Given the description of an element on the screen output the (x, y) to click on. 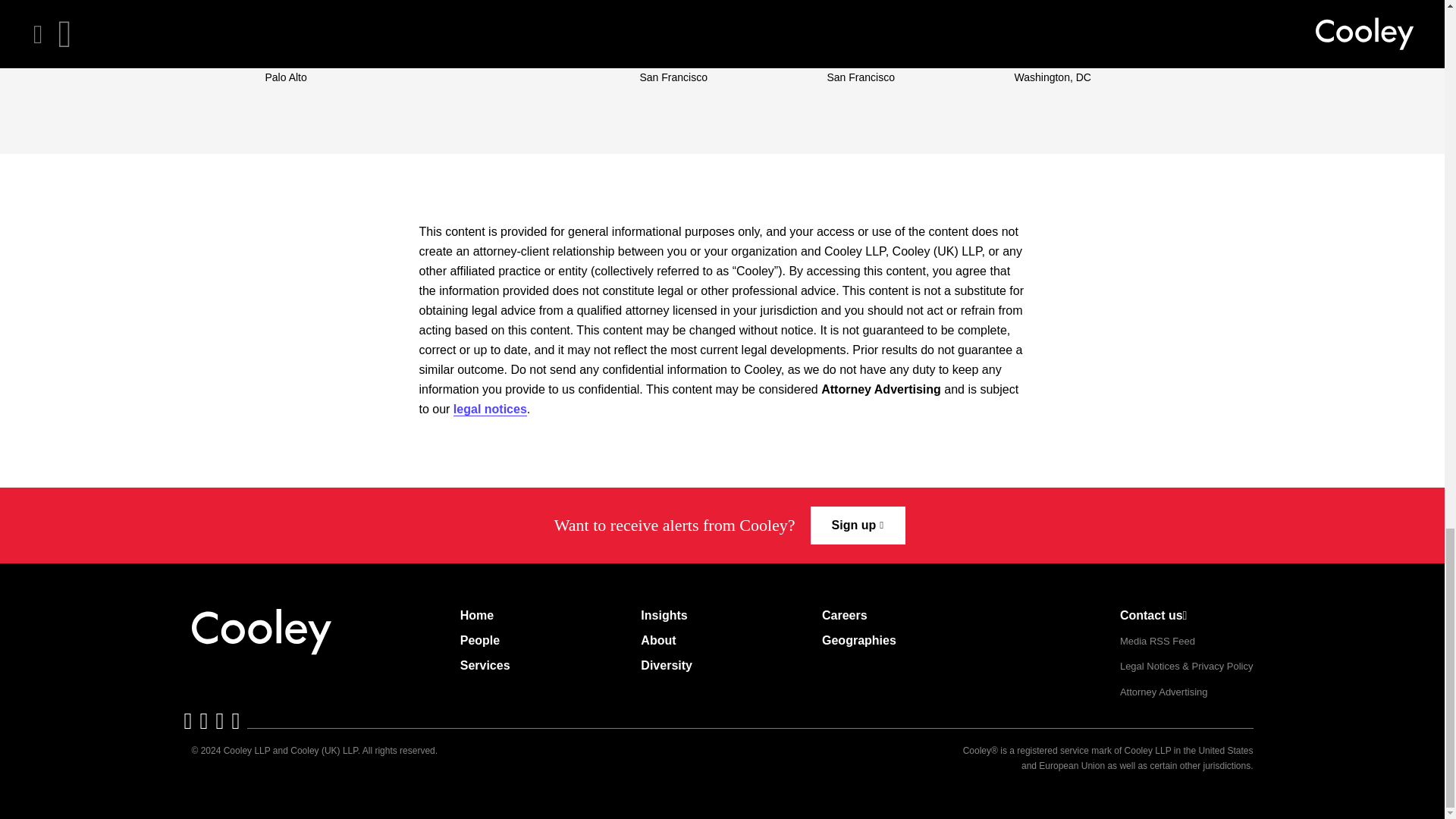
Calise Cheng (311, 37)
legal notices (489, 409)
Jodie Bourdet (876, 37)
Sam Miller (678, 37)
Sharon Connaughton (1087, 37)
